Given the description of an element on the screen output the (x, y) to click on. 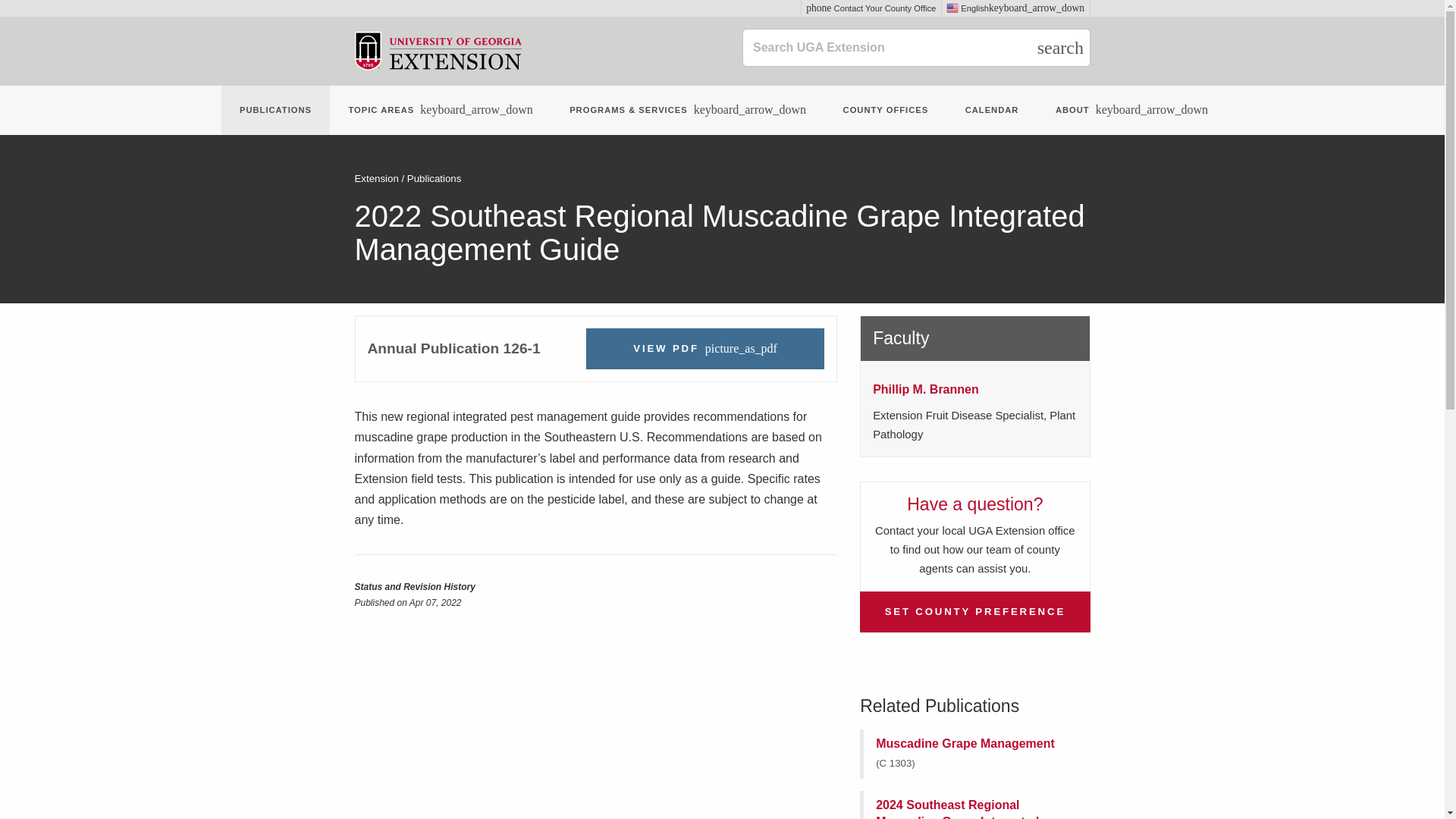
COUNTY OFFICES (886, 110)
CALENDAR (991, 110)
search (1059, 47)
PUBLICATIONS (871, 8)
